Given the description of an element on the screen output the (x, y) to click on. 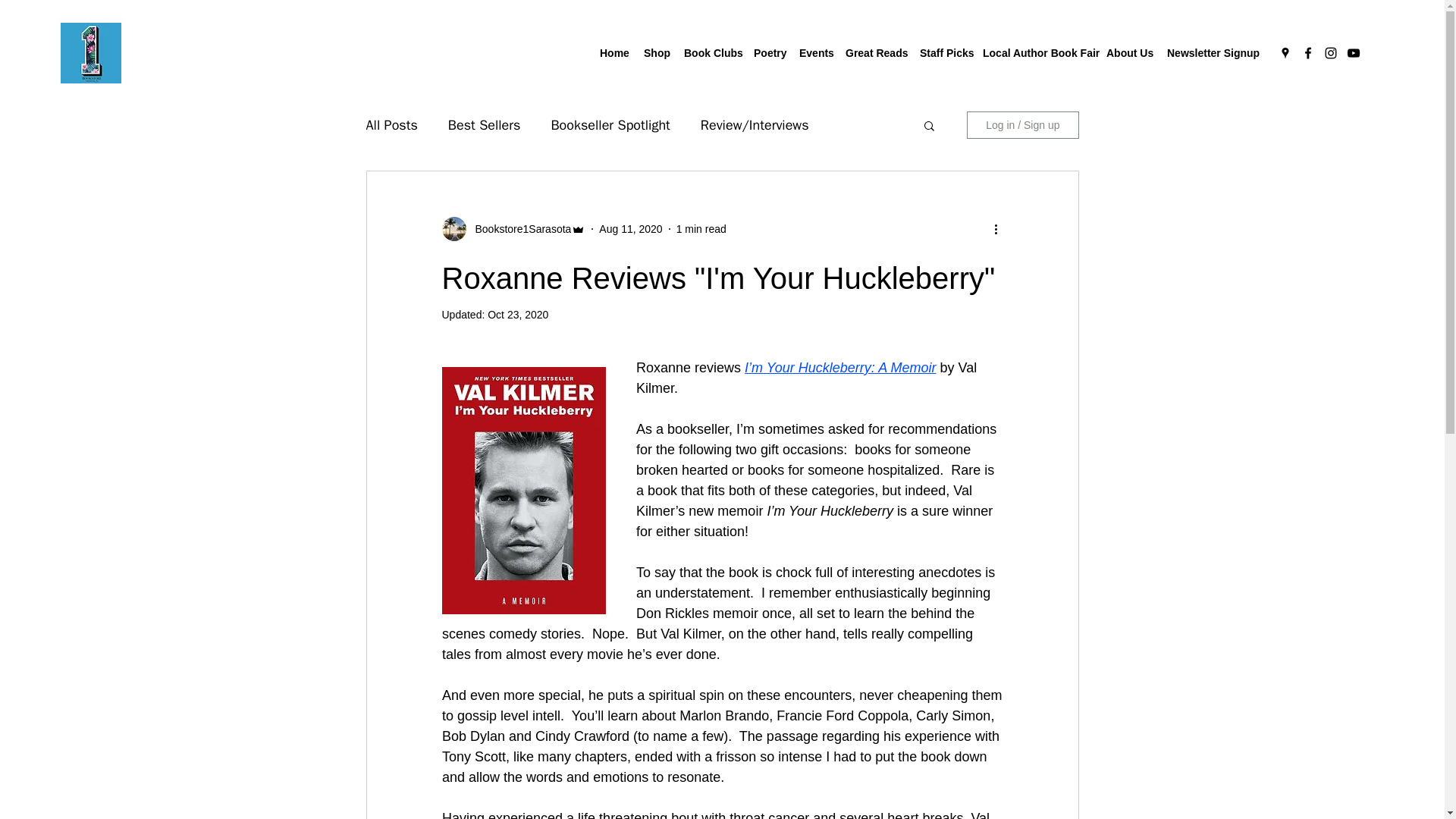
Poetry (768, 52)
All Posts (390, 125)
Great Reads (875, 52)
Best Sellers (484, 125)
Bookseller Spotlight (609, 125)
Book Clubs (711, 52)
Aug 11, 2020 (630, 228)
About Us (1128, 52)
Staff Picks (943, 52)
Events (815, 52)
Bookstore1Sarasota (517, 229)
Home (614, 52)
Shop (656, 52)
1 min read (701, 228)
Local Author Book Fair (1037, 52)
